Given the description of an element on the screen output the (x, y) to click on. 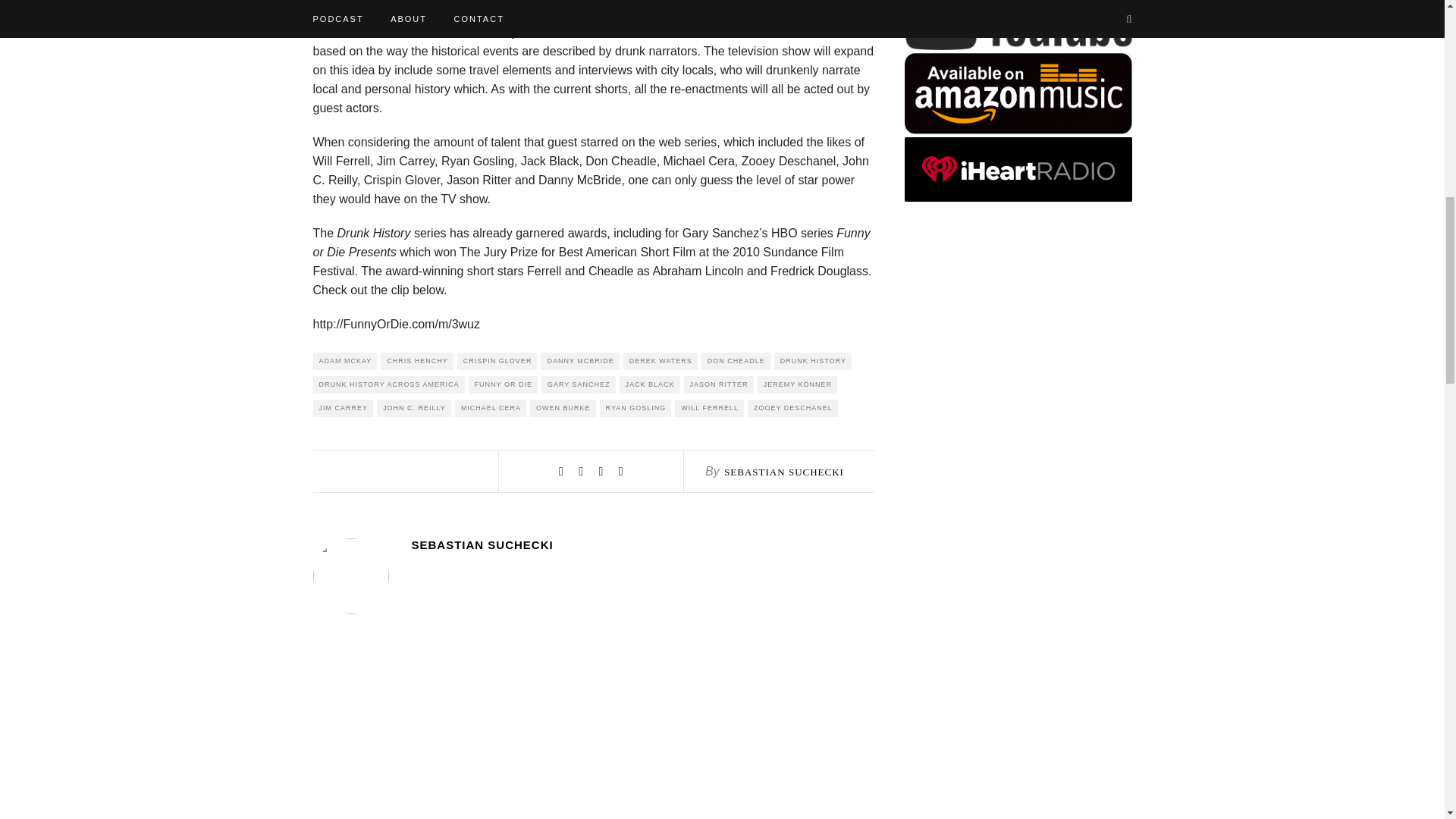
JACK BLACK (649, 384)
DRUNK HISTORY (812, 361)
RYAN GOSLING (635, 407)
Posts by Sebastian Suchecki (783, 471)
CHRIS HENCHY (416, 361)
ADAM MCKAY (345, 361)
JASON RITTER (719, 384)
SEBASTIAN SUCHECKI (641, 544)
JEREMY KONNER (797, 384)
Posts by Sebastian Suchecki (641, 544)
